Given the description of an element on the screen output the (x, y) to click on. 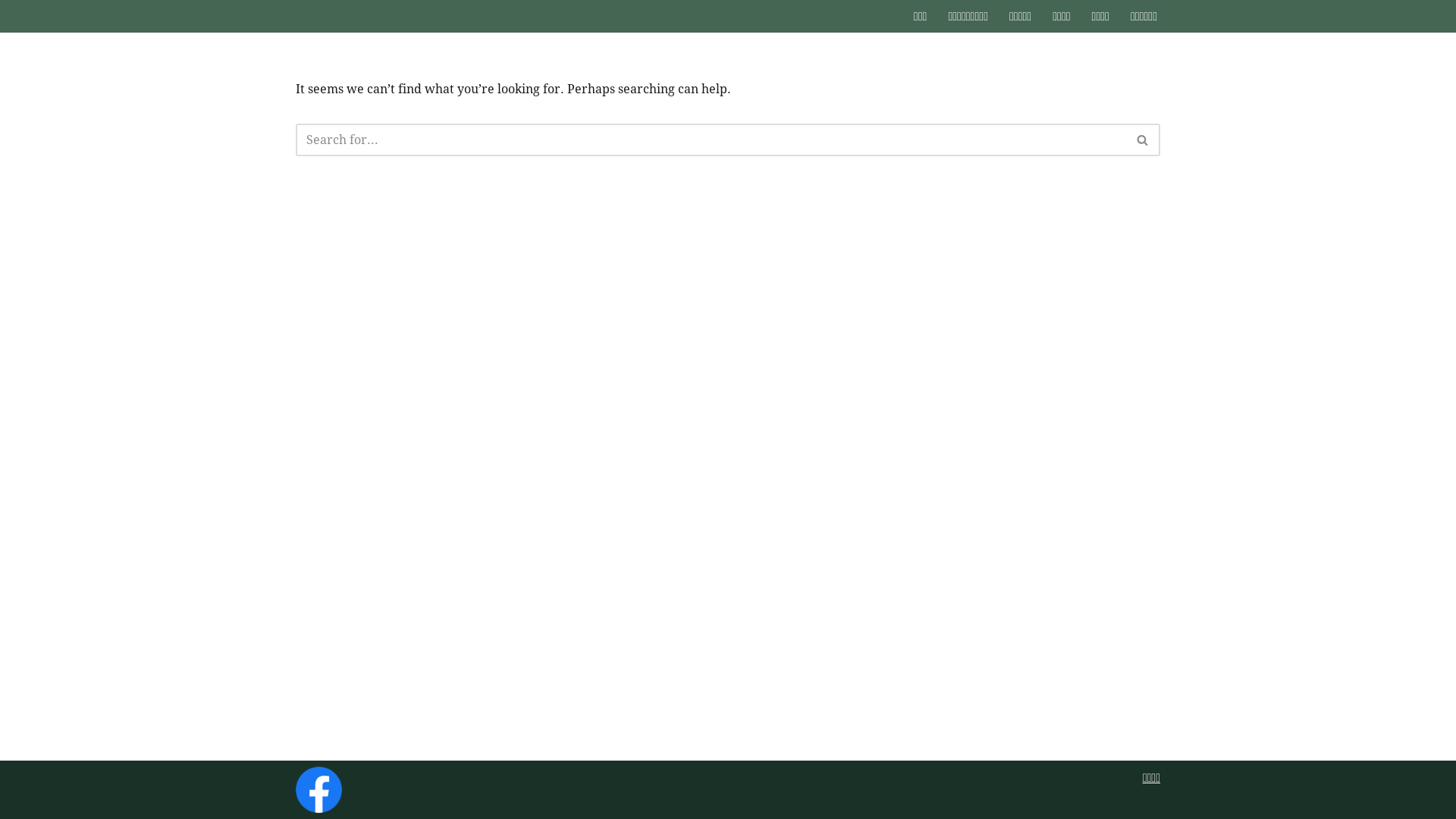
Skip to content Element type: text (11, 31)
